Given the description of an element on the screen output the (x, y) to click on. 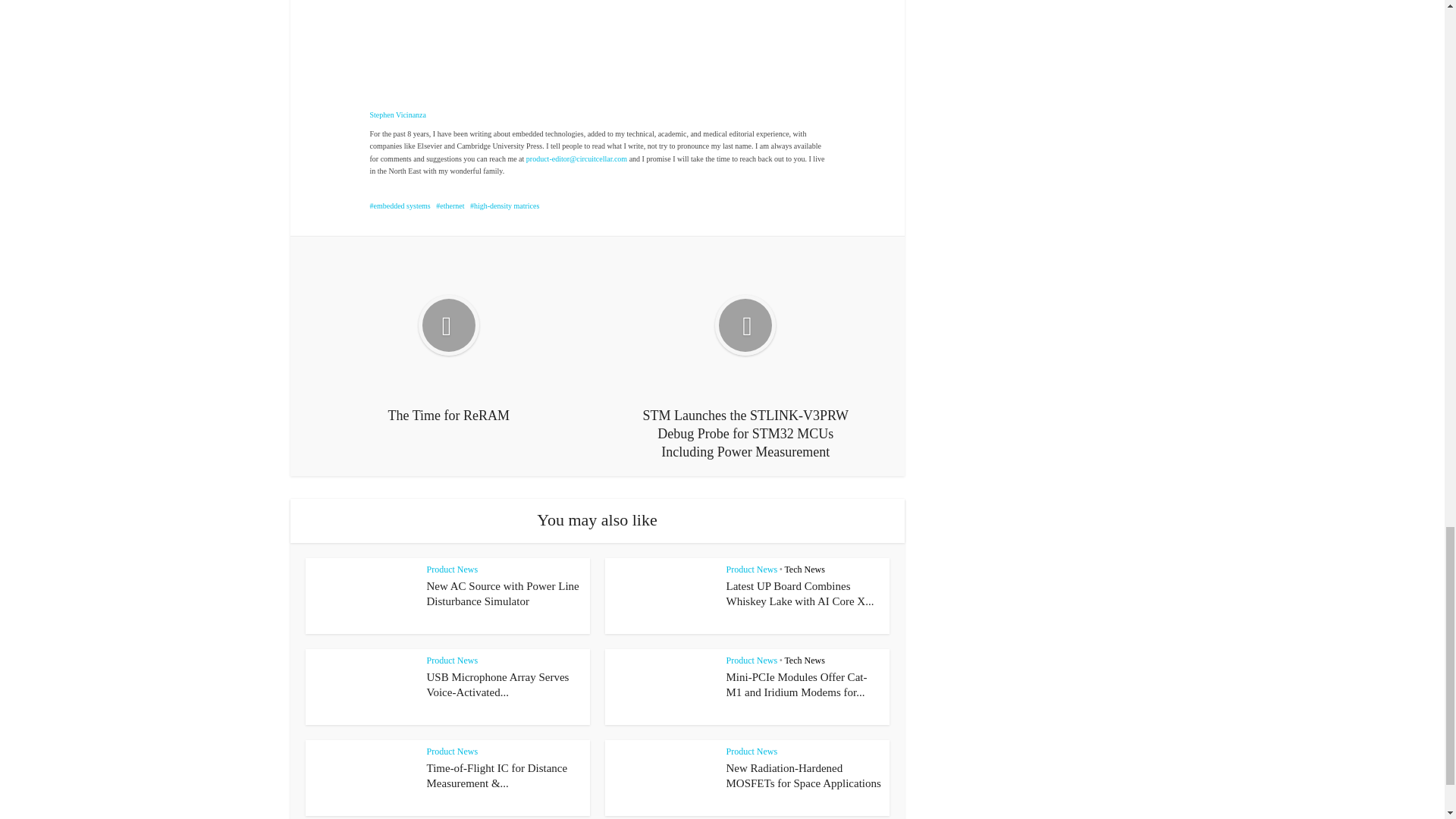
Mini-PCIe Modules Offer Cat-M1 and Iridium Modems for IoT (796, 684)
New AC Source with Power Line Disturbance Simulator (502, 593)
New Radiation-Hardened MOSFETs for Space Applications (803, 775)
Latest UP Board Combines Whiskey Lake with AI Core X Modules (800, 593)
USB Microphone Array Serves Voice-Activated Applications (497, 684)
